Given the description of an element on the screen output the (x, y) to click on. 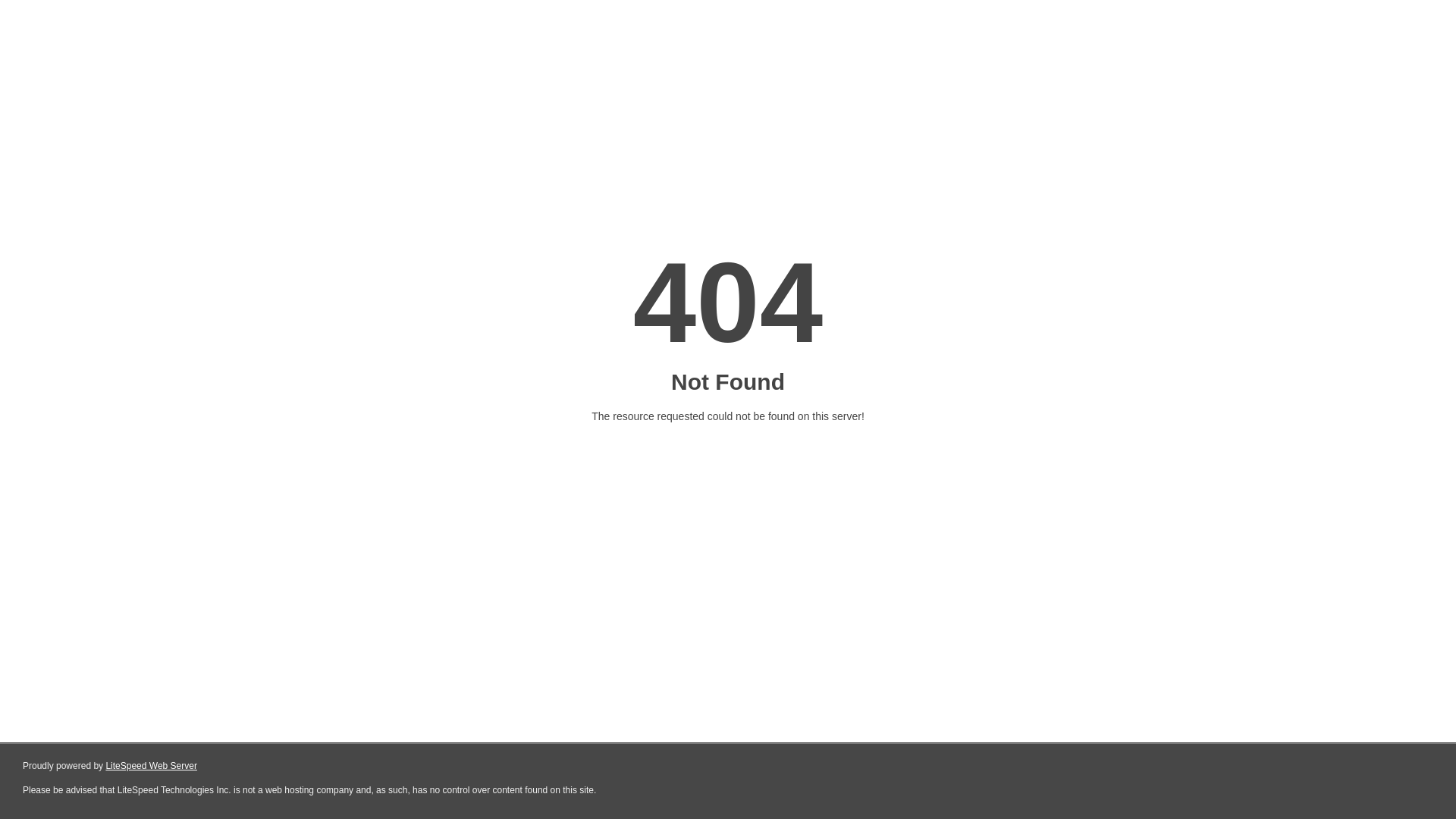
LiteSpeed Web Server Element type: text (151, 765)
